Given the description of an element on the screen output the (x, y) to click on. 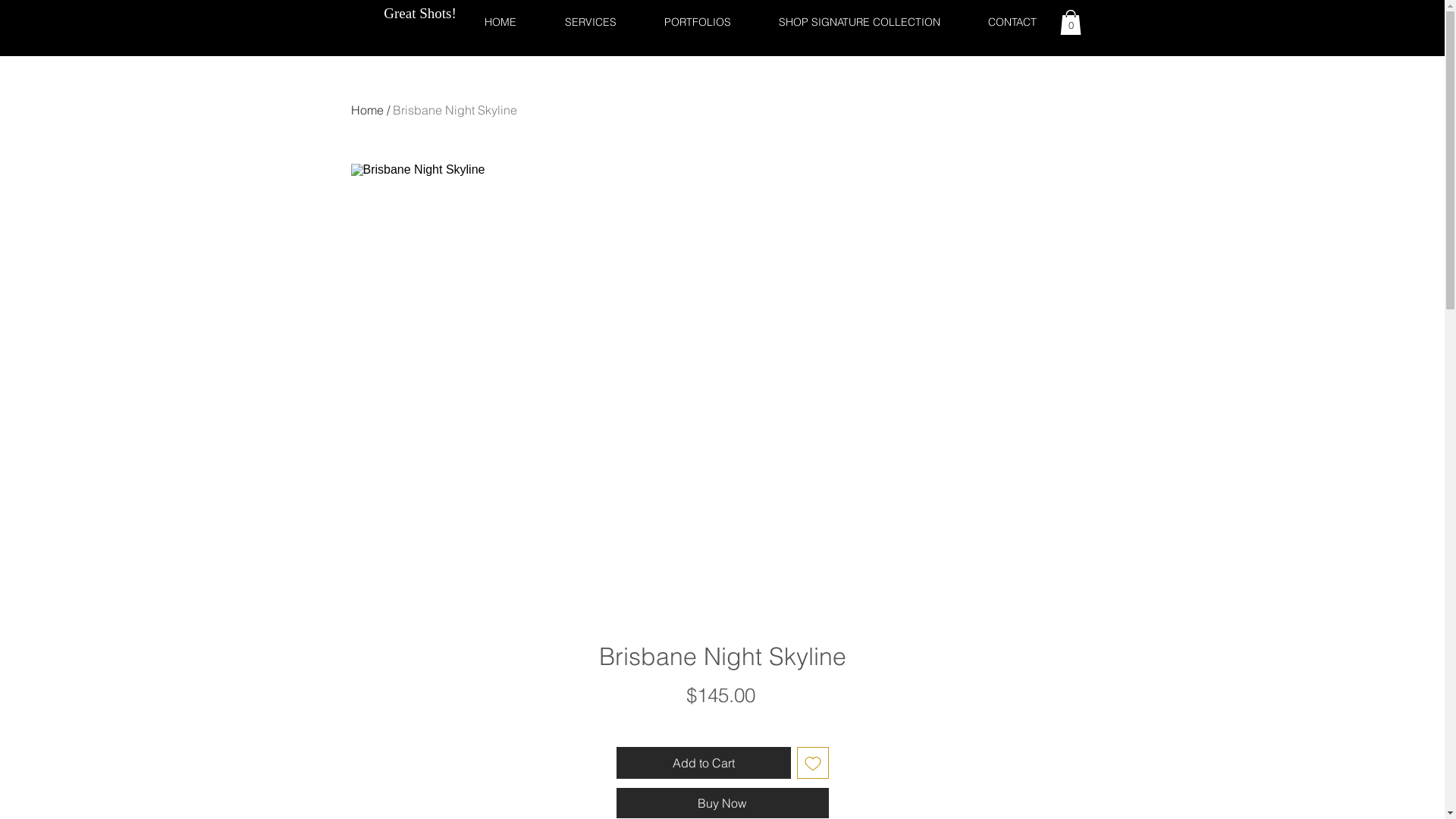
Brisbane Night Skyline Element type: text (454, 109)
0 Element type: text (1070, 21)
CONTACT Element type: text (1012, 22)
SHOP SIGNATURE COLLECTION Element type: text (859, 22)
Buy Now Element type: text (721, 802)
SERVICES Element type: text (589, 22)
Home Element type: text (366, 109)
Add to Cart Element type: text (702, 762)
HOME Element type: text (499, 22)
Great Shots! Element type: text (419, 12)
